Given the description of an element on the screen output the (x, y) to click on. 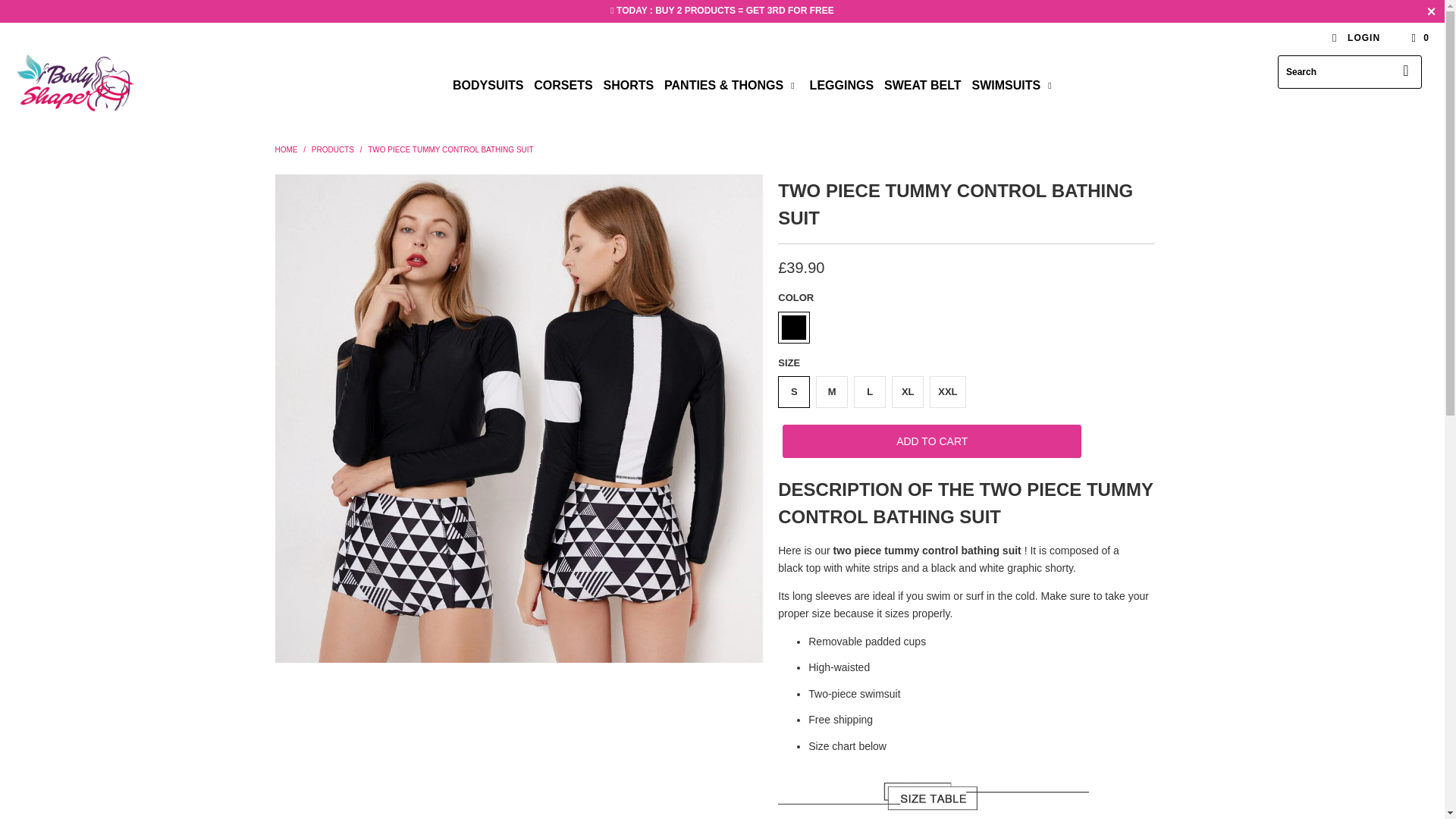
Products (332, 149)
LOGIN (1355, 37)
BODYSUITS (487, 85)
Body Shaper (286, 149)
My Account  (1355, 37)
Body Shaper (122, 84)
